Given the description of an element on the screen output the (x, y) to click on. 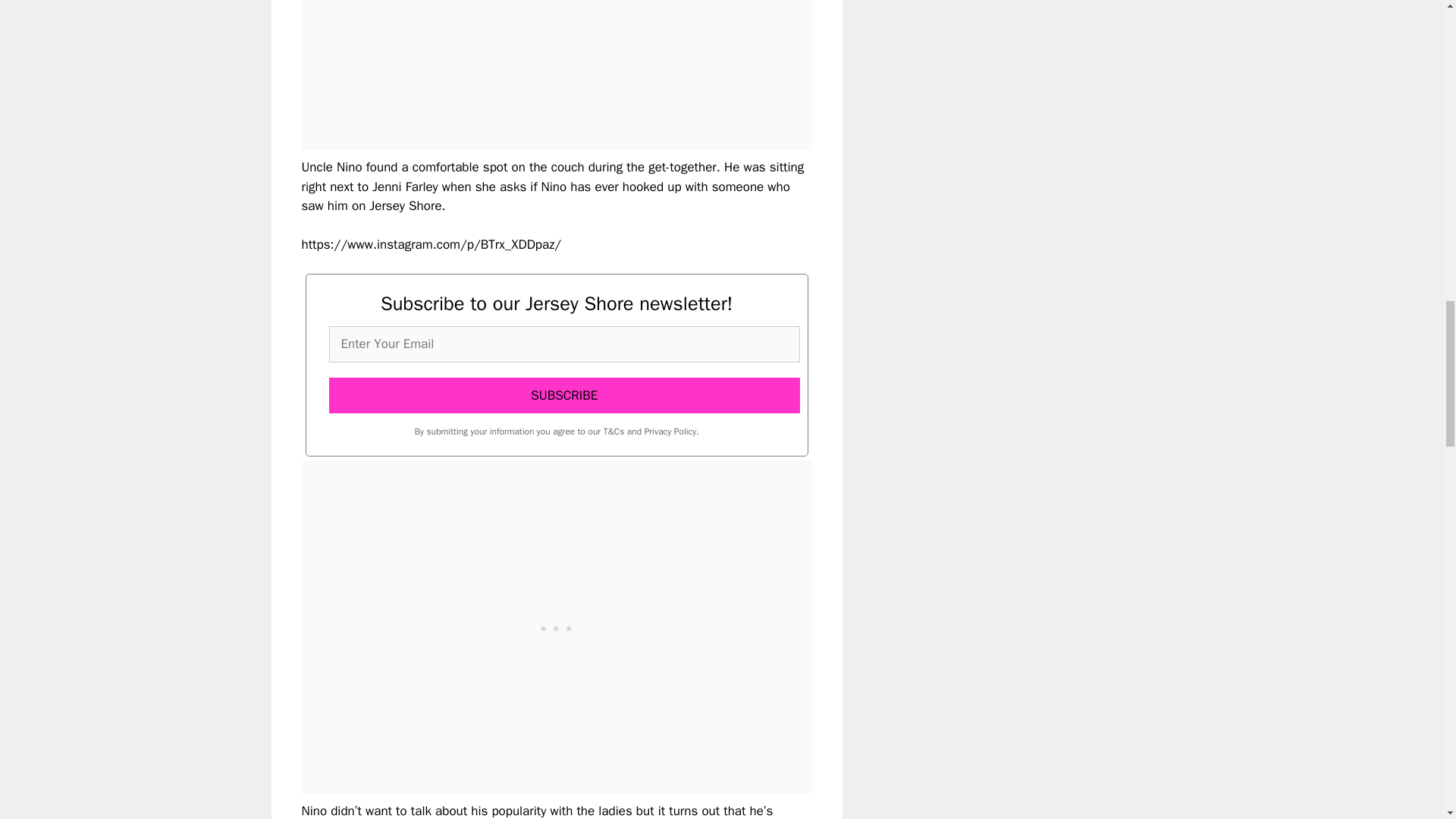
SUBSCRIBE (564, 395)
SUBSCRIBE (564, 395)
